Given the description of an element on the screen output the (x, y) to click on. 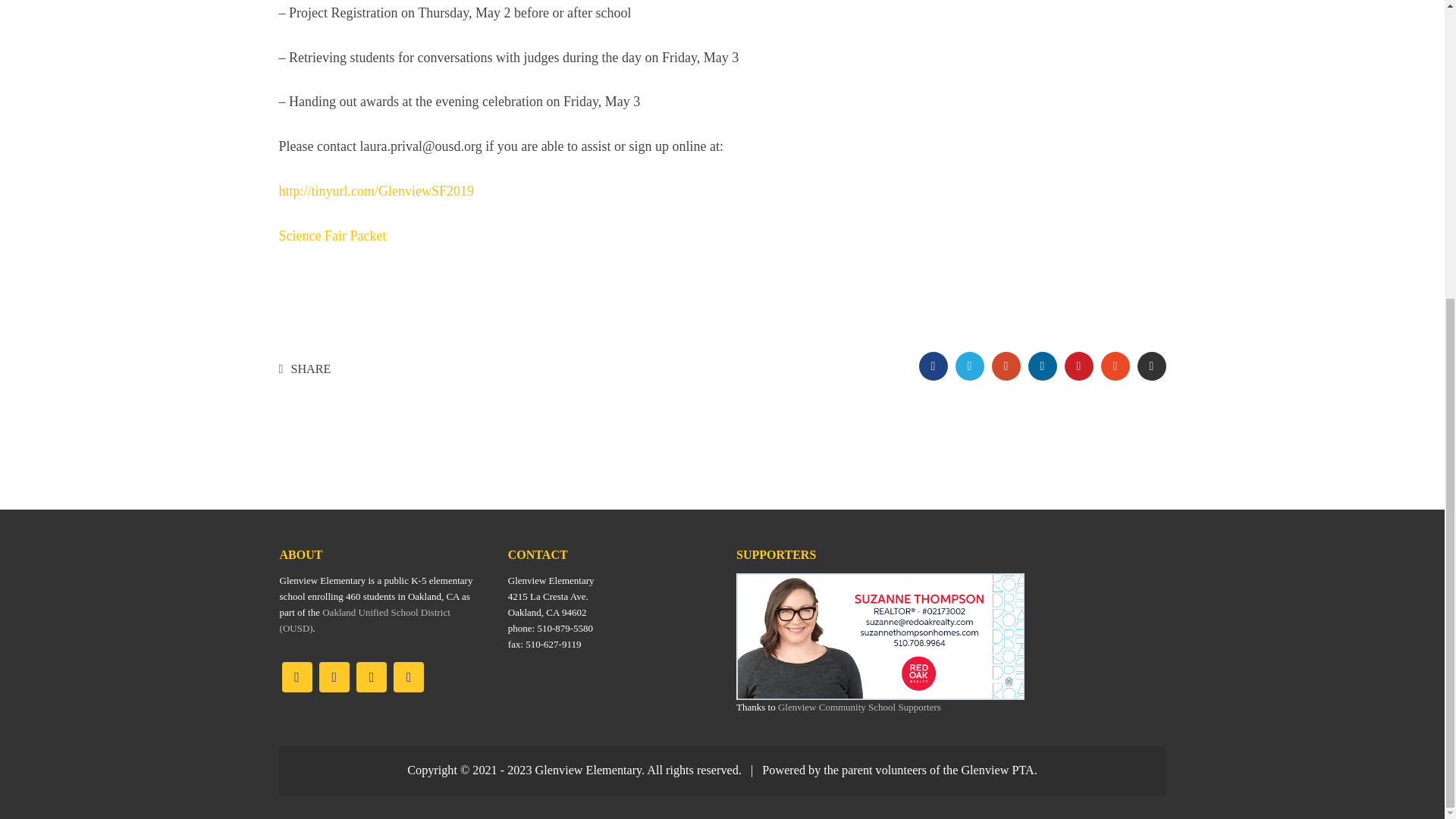
Twitter (408, 676)
Facebook (297, 676)
Instagram (333, 676)
YouTube (371, 676)
